Given the description of an element on the screen output the (x, y) to click on. 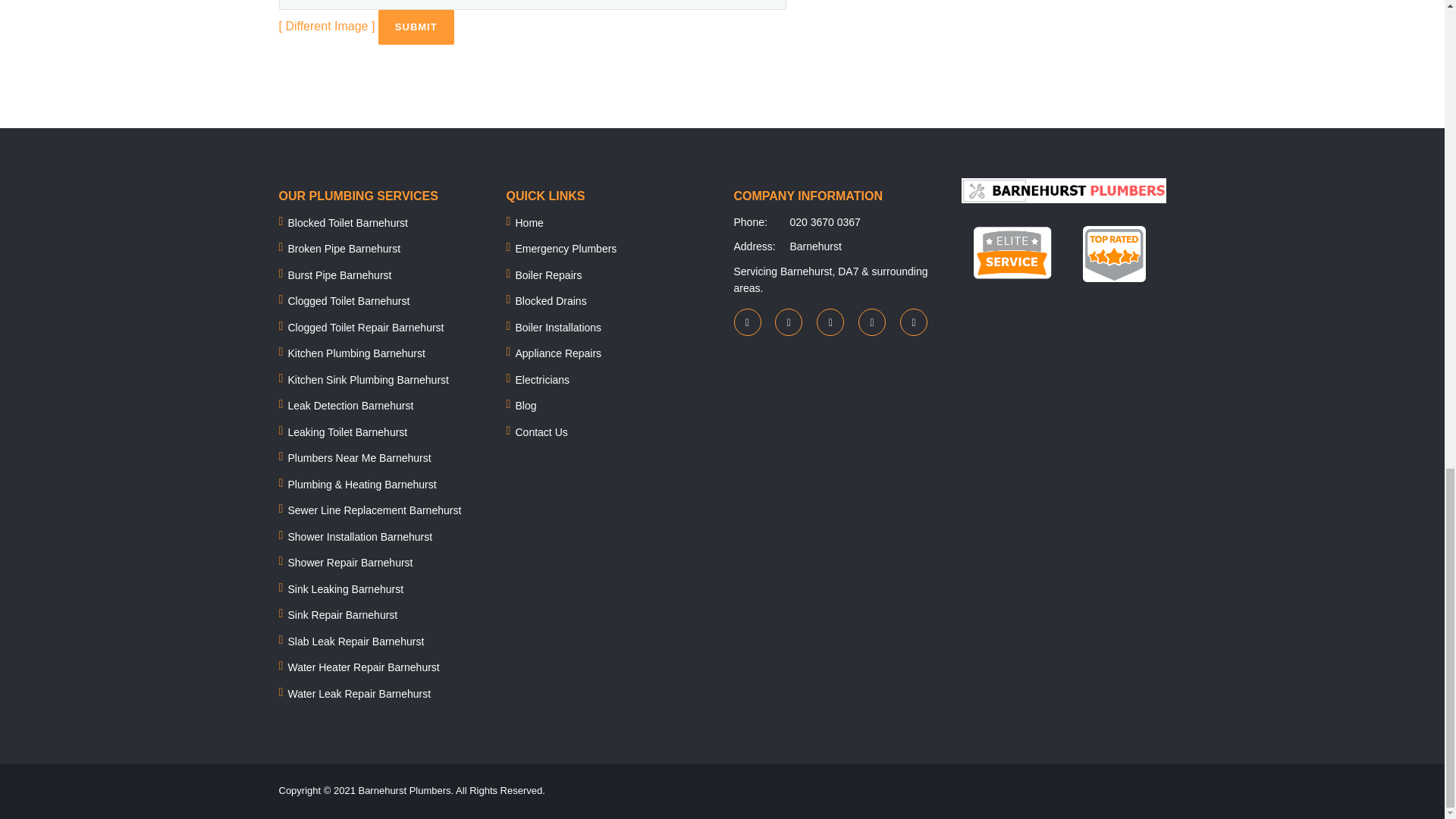
Sink Repair Barnehurst (342, 614)
Boiler Repairs (548, 275)
Blocked Drains (550, 300)
Sink Leaking Barnehurst (346, 589)
Leaking Toilet Barnehurst (347, 431)
Kitchen Plumbing Barnehurst (356, 353)
Leak Detection Barnehurst (350, 405)
Shower Repair Barnehurst (350, 562)
Broken Pipe Barnehurst (344, 248)
Appliance Repairs (558, 353)
Shower Installation Barnehurst (360, 536)
SUBMIT (416, 27)
Electricians (542, 379)
Emergency Plumbers (566, 248)
Kitchen Sink Plumbing Barnehurst (368, 379)
